Given the description of an element on the screen output the (x, y) to click on. 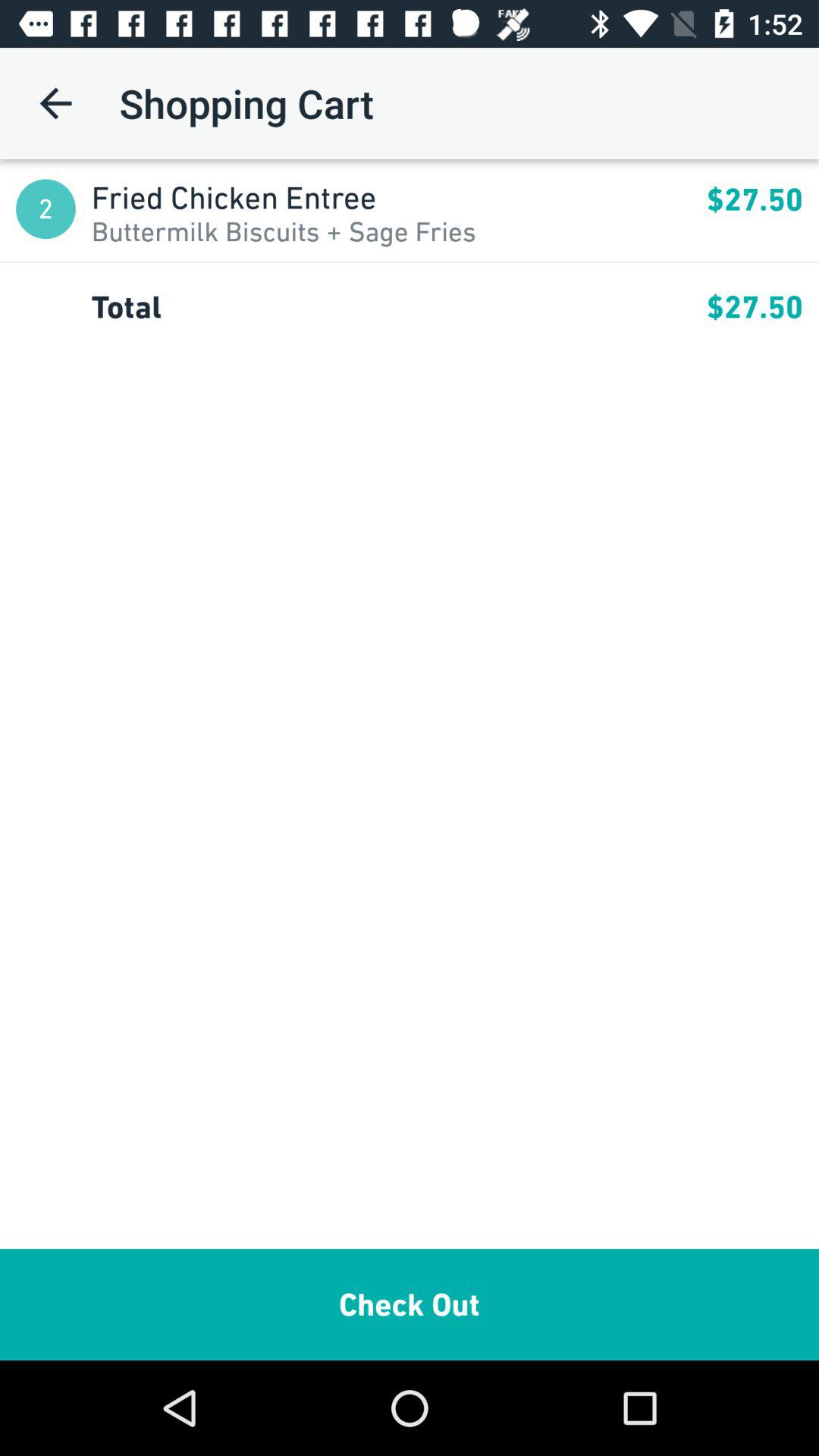
select icon next to the 2 (398, 197)
